Given the description of an element on the screen output the (x, y) to click on. 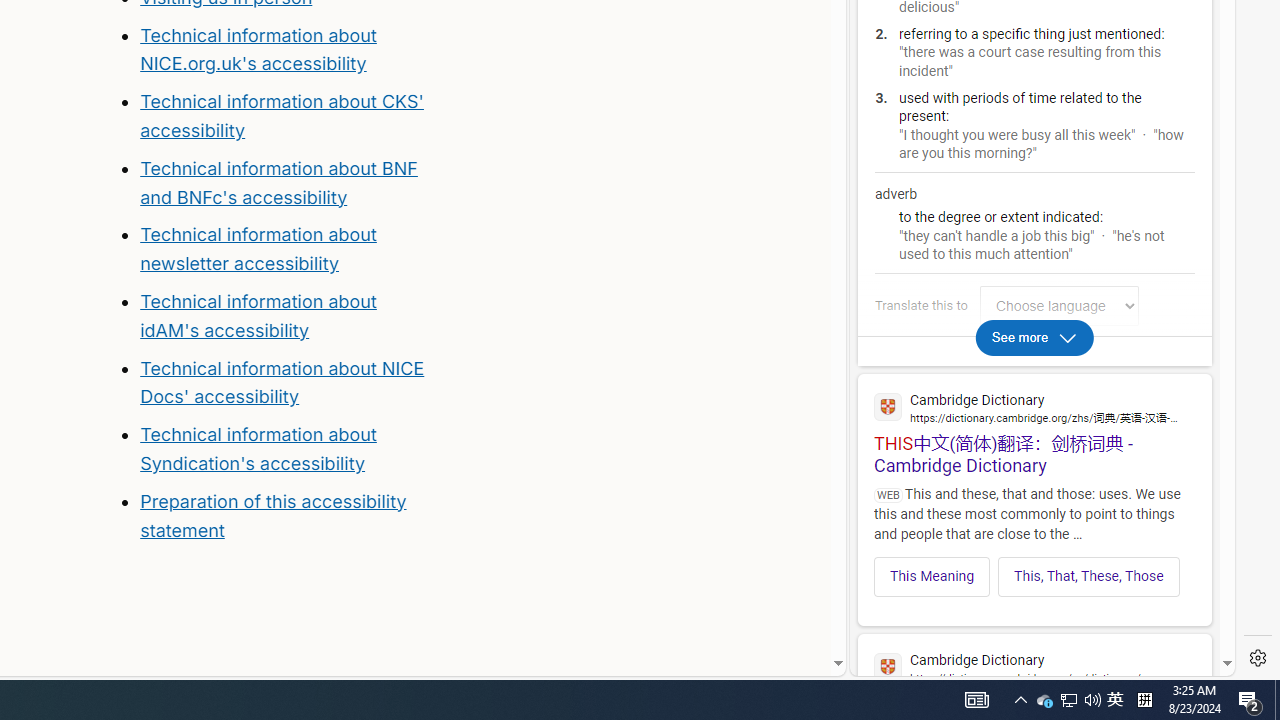
Technical information about idAM's accessibility (258, 315)
Technical information about CKS' accessibility (281, 115)
Translate this to Choose language (1059, 305)
Preparation of this accessibility statement (273, 515)
Preparation of this accessibility statement (287, 515)
Technical information about BNF and BNFc's accessibility (278, 182)
Technical information about NICE.org.uk's accessibility (258, 48)
Technical information about newsletter accessibility (258, 249)
Technical information about NICE Docs' accessibility (281, 382)
